Given the description of an element on the screen output the (x, y) to click on. 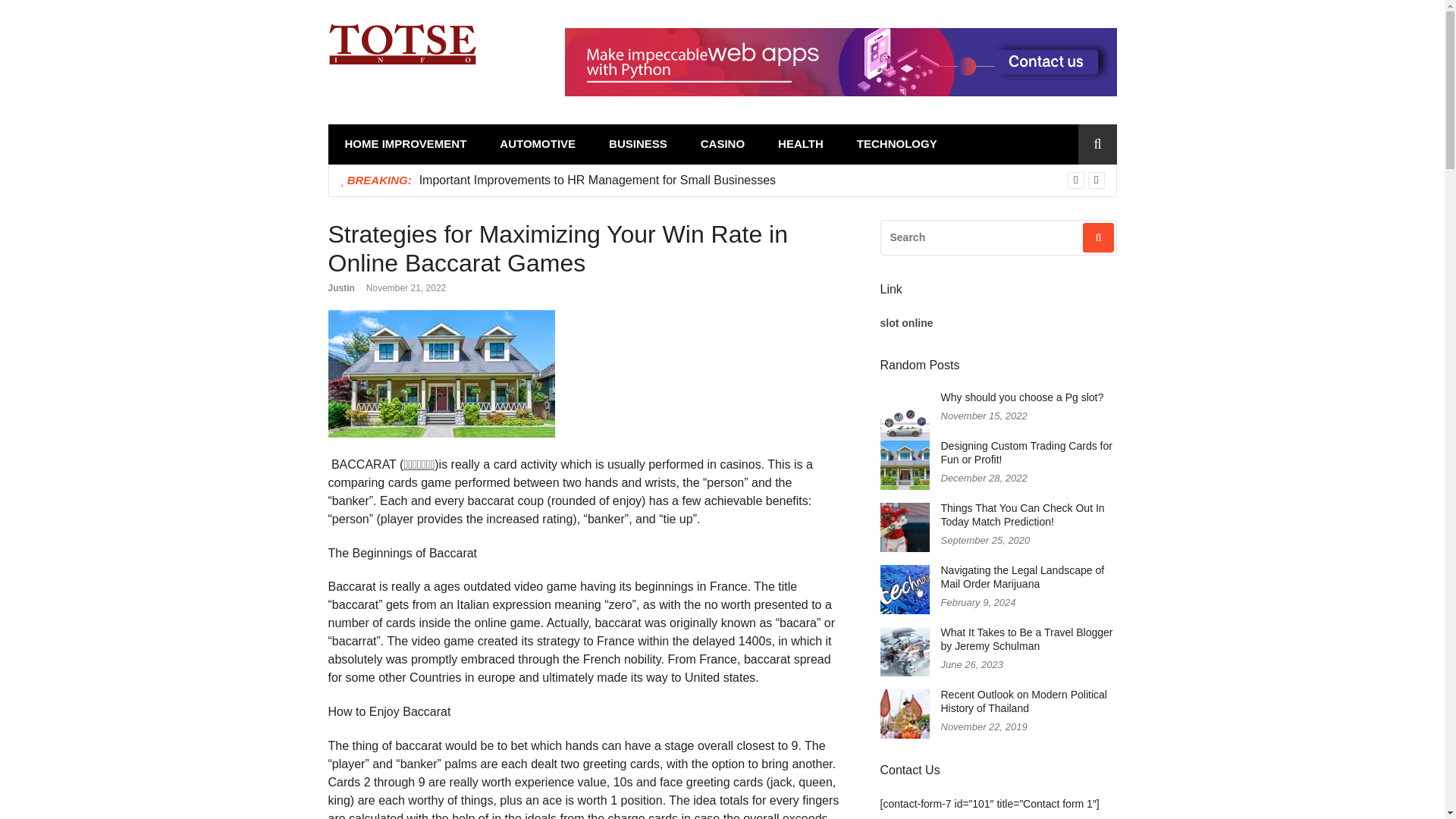
AUTOMOTIVE (537, 144)
Recent Outlook on Modern Political History of Thailand (1023, 701)
What It Takes to Be a Travel Blogger by Jeremy Schulman (1026, 639)
Navigating the Legal Landscape of Mail Order Marijuana (1021, 577)
What It Takes to Be a Travel Blogger by Jeremy Schulman (1026, 639)
Justin (340, 287)
slot online (906, 322)
CASINO (722, 144)
Designing Custom Trading Cards for Fun or Profit! (1026, 452)
Things That You Can Check Out In Today Match Prediction! (1021, 515)
